Given the description of an element on the screen output the (x, y) to click on. 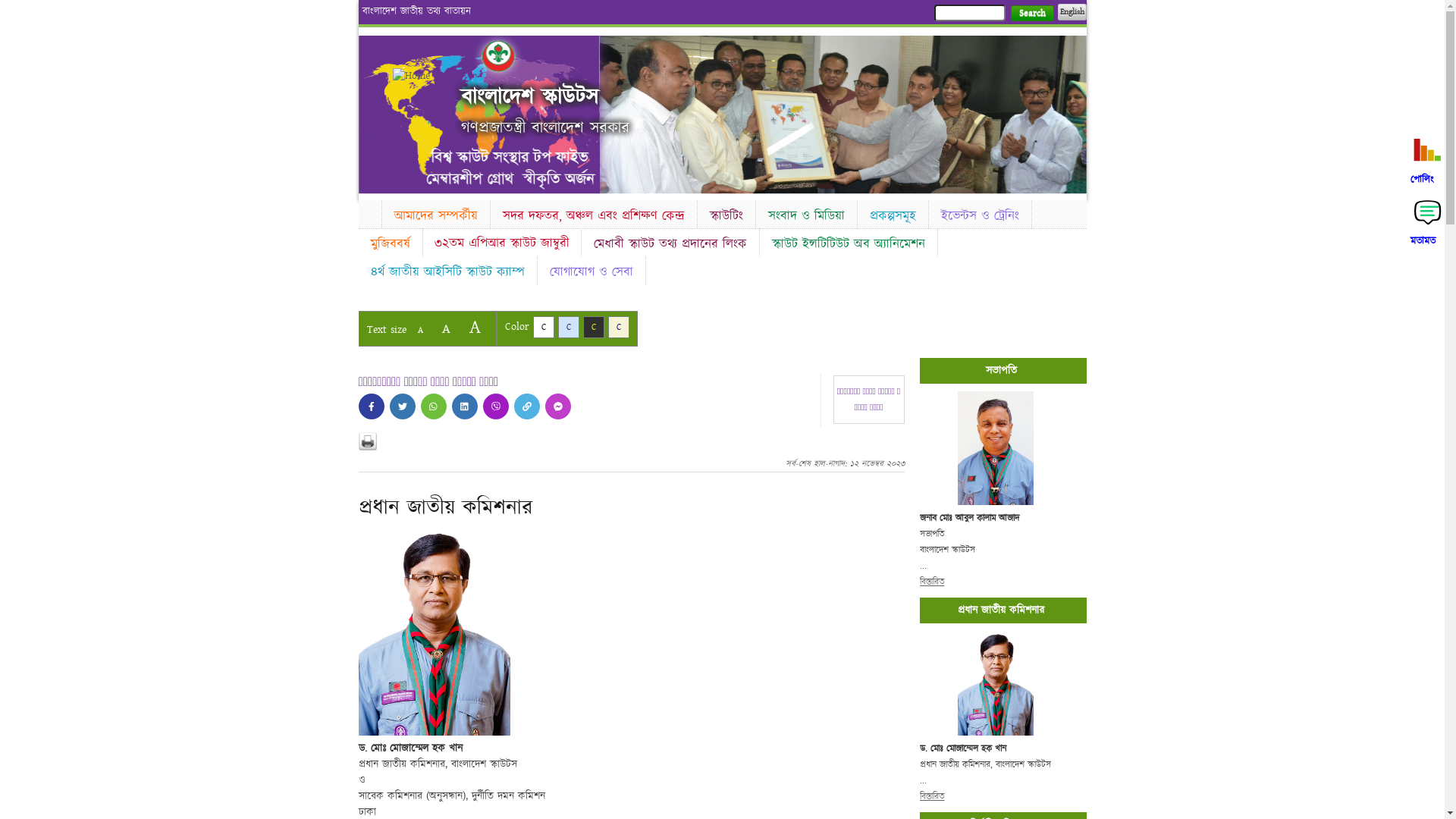
Search Element type: text (1031, 13)
A Element type: text (419, 330)
A Element type: text (445, 328)
English Element type: text (1071, 11)
C Element type: text (568, 327)
Home Element type: hover (368, 211)
C Element type: text (592, 327)
C Element type: text (618, 327)
Home Element type: hover (418, 76)
C Element type: text (542, 327)
A Element type: text (474, 327)
